Given the description of an element on the screen output the (x, y) to click on. 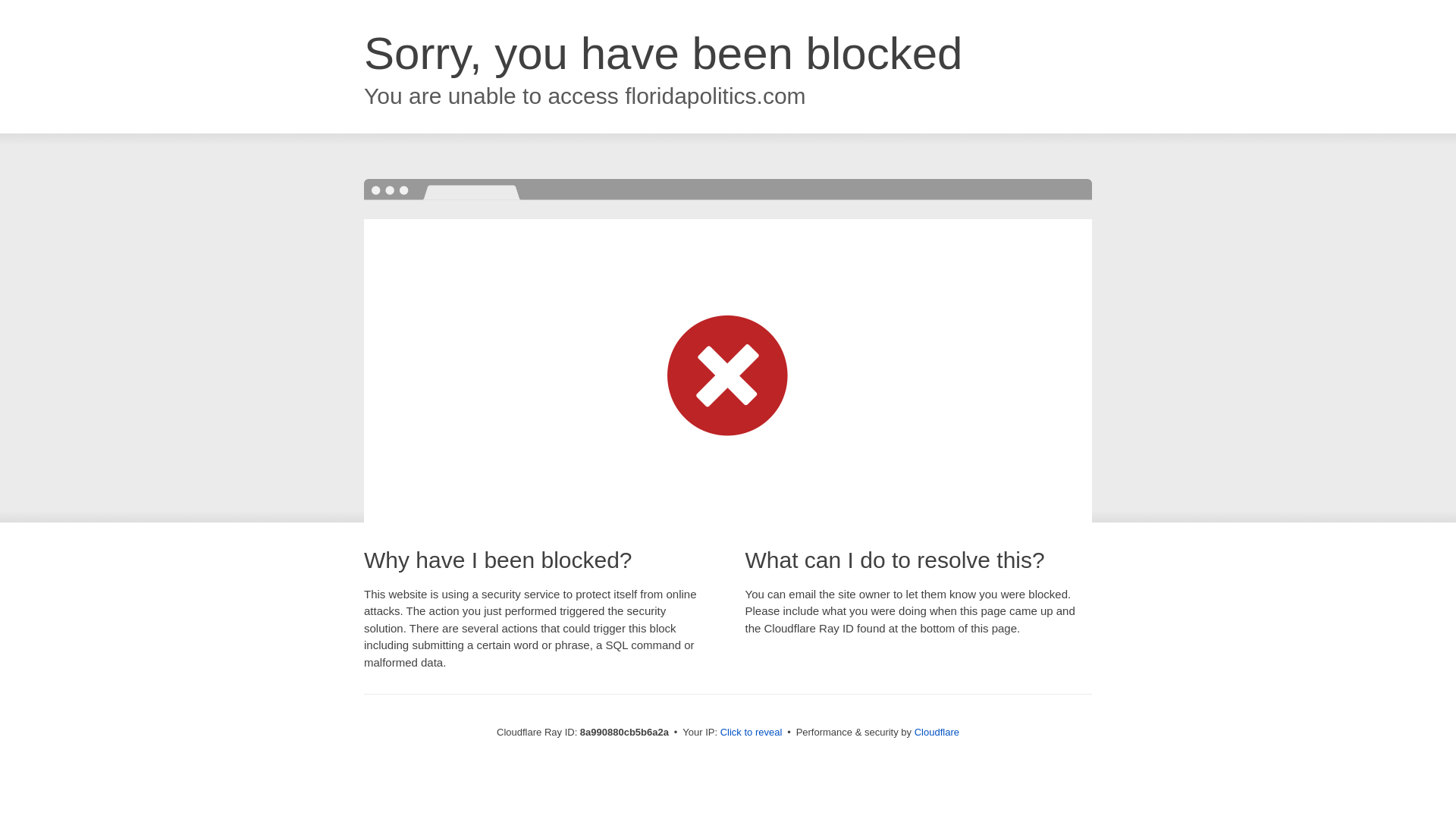
Click to reveal (751, 732)
Cloudflare (936, 731)
